Given the description of an element on the screen output the (x, y) to click on. 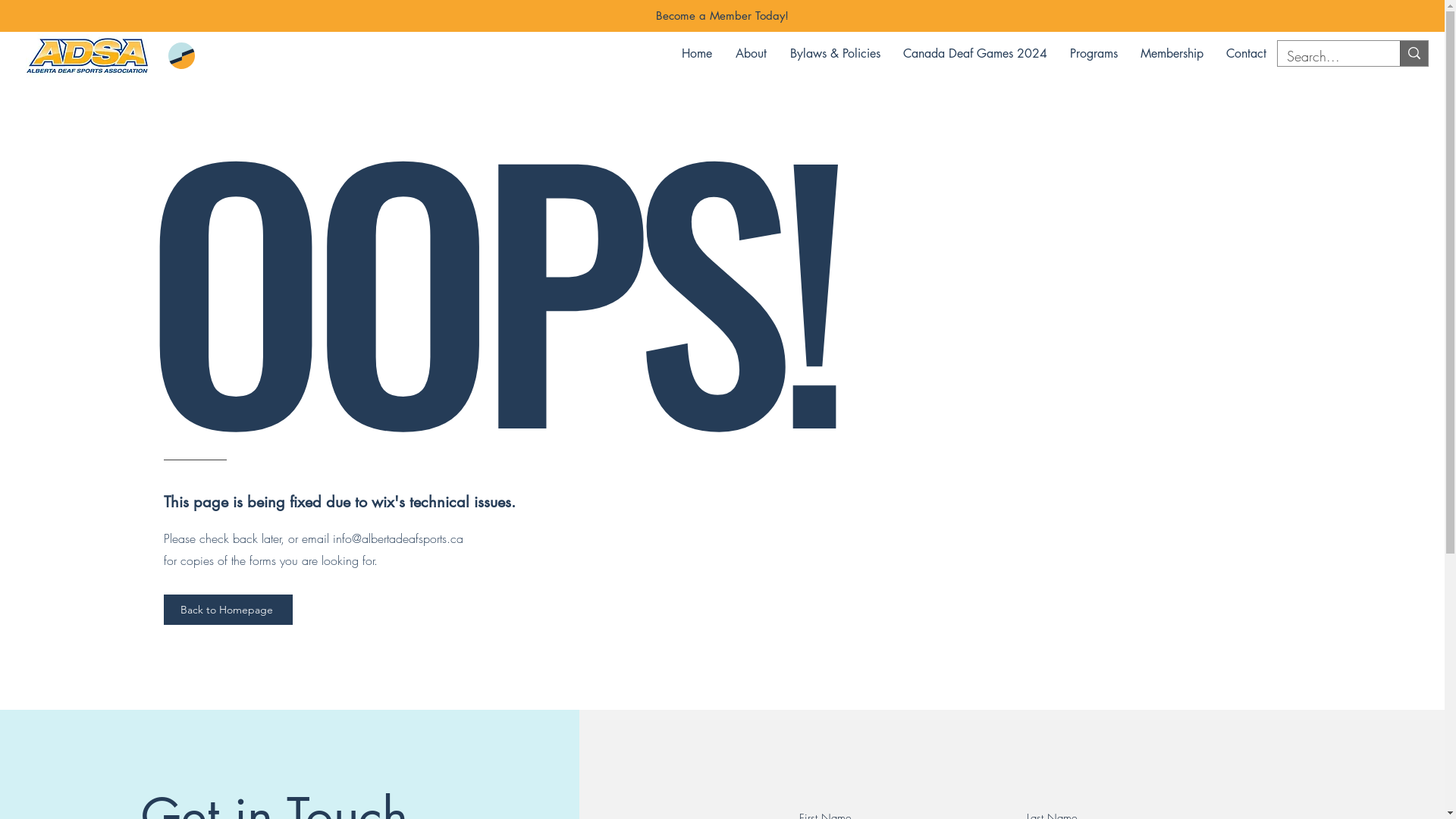
About Element type: text (750, 53)
Programs Element type: text (1093, 53)
Contact Element type: text (1245, 53)
Home Element type: text (696, 53)
Back to Homepage Element type: text (227, 609)
Bylaws & Policies Element type: text (834, 53)
ADSA logo_edited.jpg Element type: hover (87, 56)
Canada Deaf Games 2024 Element type: text (974, 53)
Membership Element type: text (1171, 53)
info@albertadeafsports.ca Element type: text (397, 538)
